Given the description of an element on the screen output the (x, y) to click on. 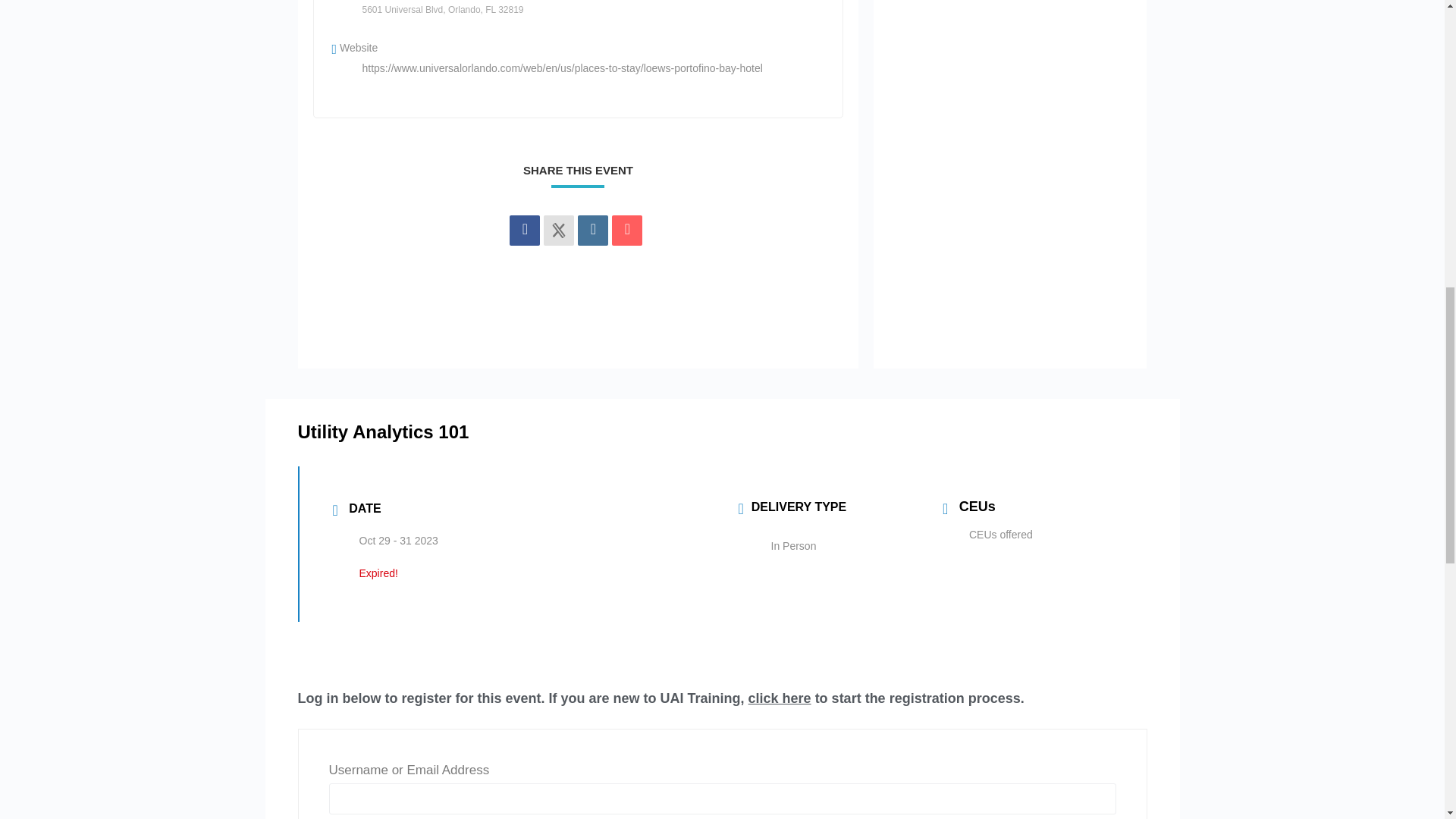
X Social Network (558, 230)
Share on Facebook (524, 230)
Linkedin (593, 230)
Email (626, 230)
